Given the description of an element on the screen output the (x, y) to click on. 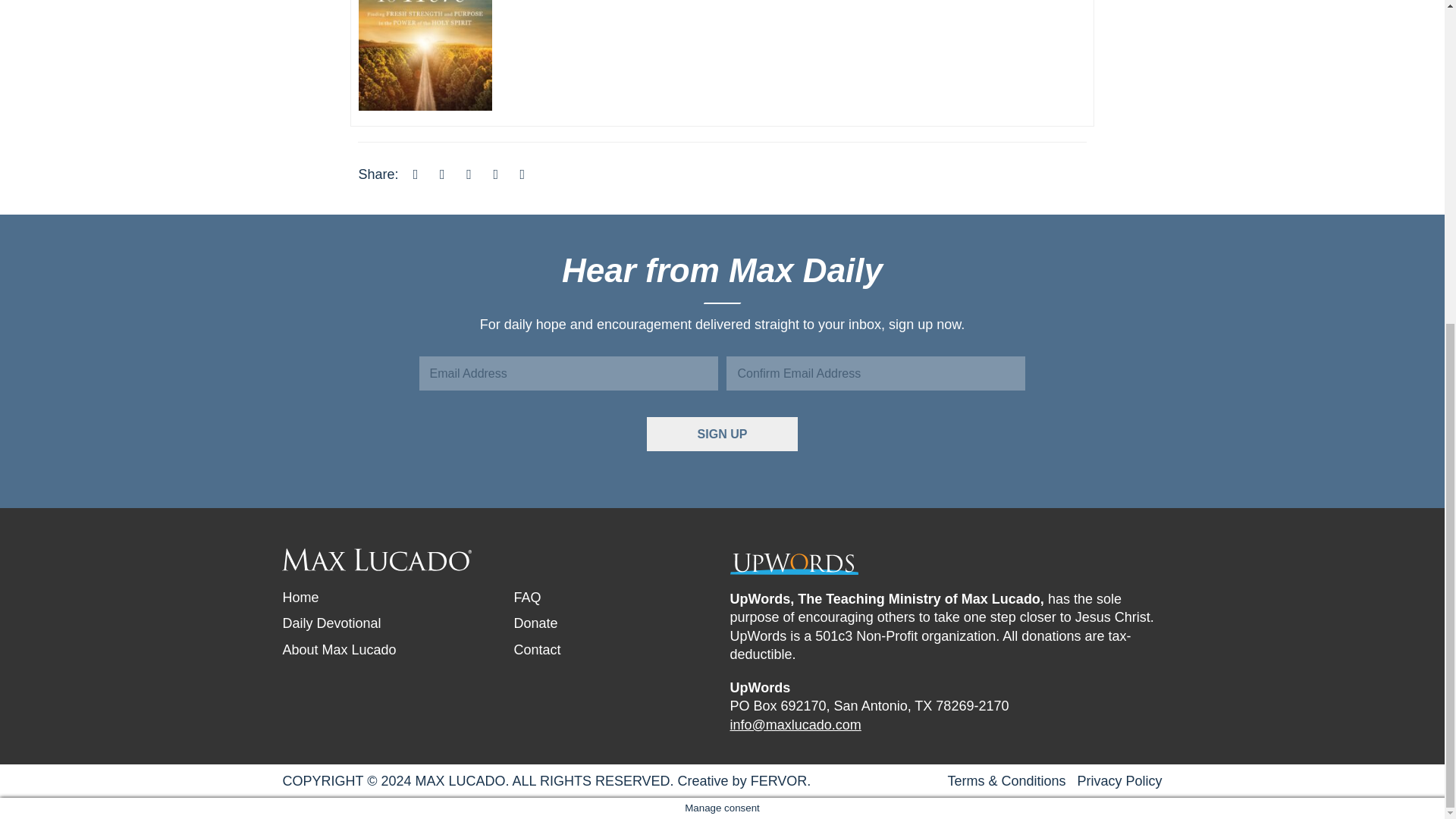
Email UpWords (794, 724)
Sign Up (721, 433)
Share via Pinterest (495, 174)
Donate (535, 622)
Help Is Here (425, 10)
LinkedIn (469, 174)
About Max Lucado (339, 649)
Share via Twitter (441, 174)
Facebook (415, 174)
Sign Up (721, 433)
